Given the description of an element on the screen output the (x, y) to click on. 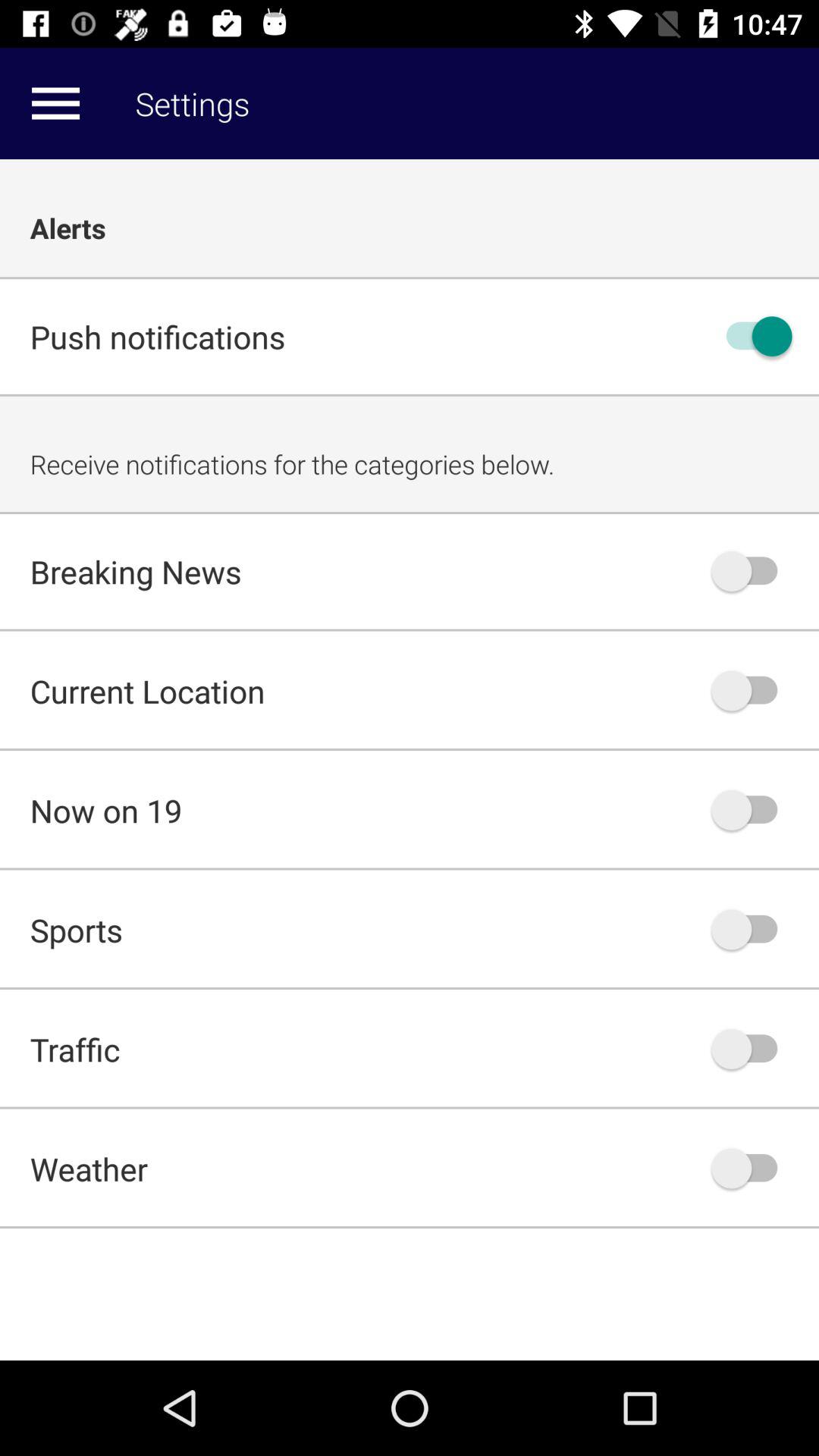
choose app above the alerts item (55, 103)
